Given the description of an element on the screen output the (x, y) to click on. 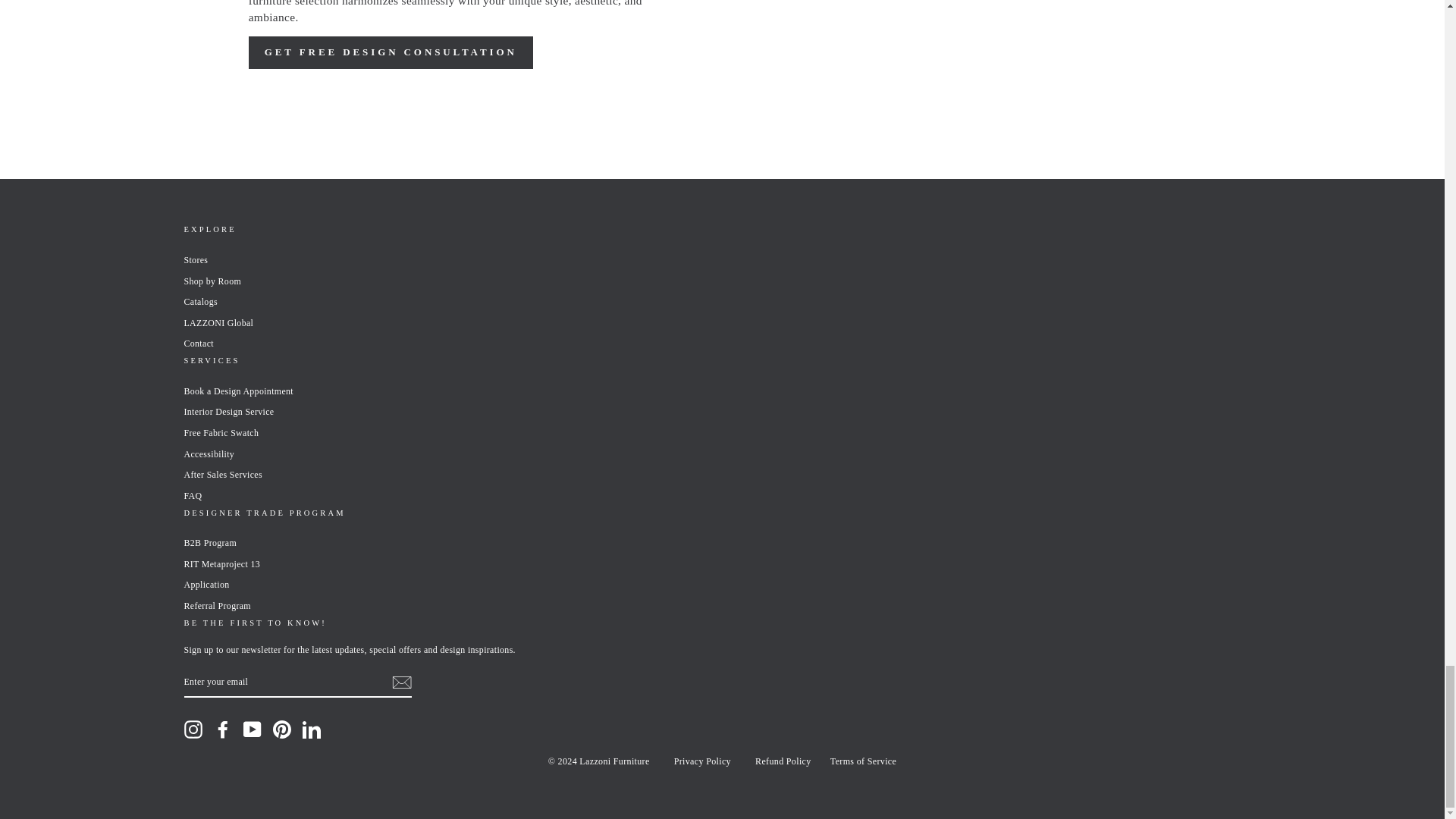
Lazzoni Furniture on Instagram (192, 729)
Lazzoni Furniture on YouTube (251, 729)
Lazzoni Furniture on Pinterest (282, 729)
Lazzoni Furniture on Facebook (222, 729)
Lazzoni Furniture on LinkedIn (310, 729)
